Given the description of an element on the screen output the (x, y) to click on. 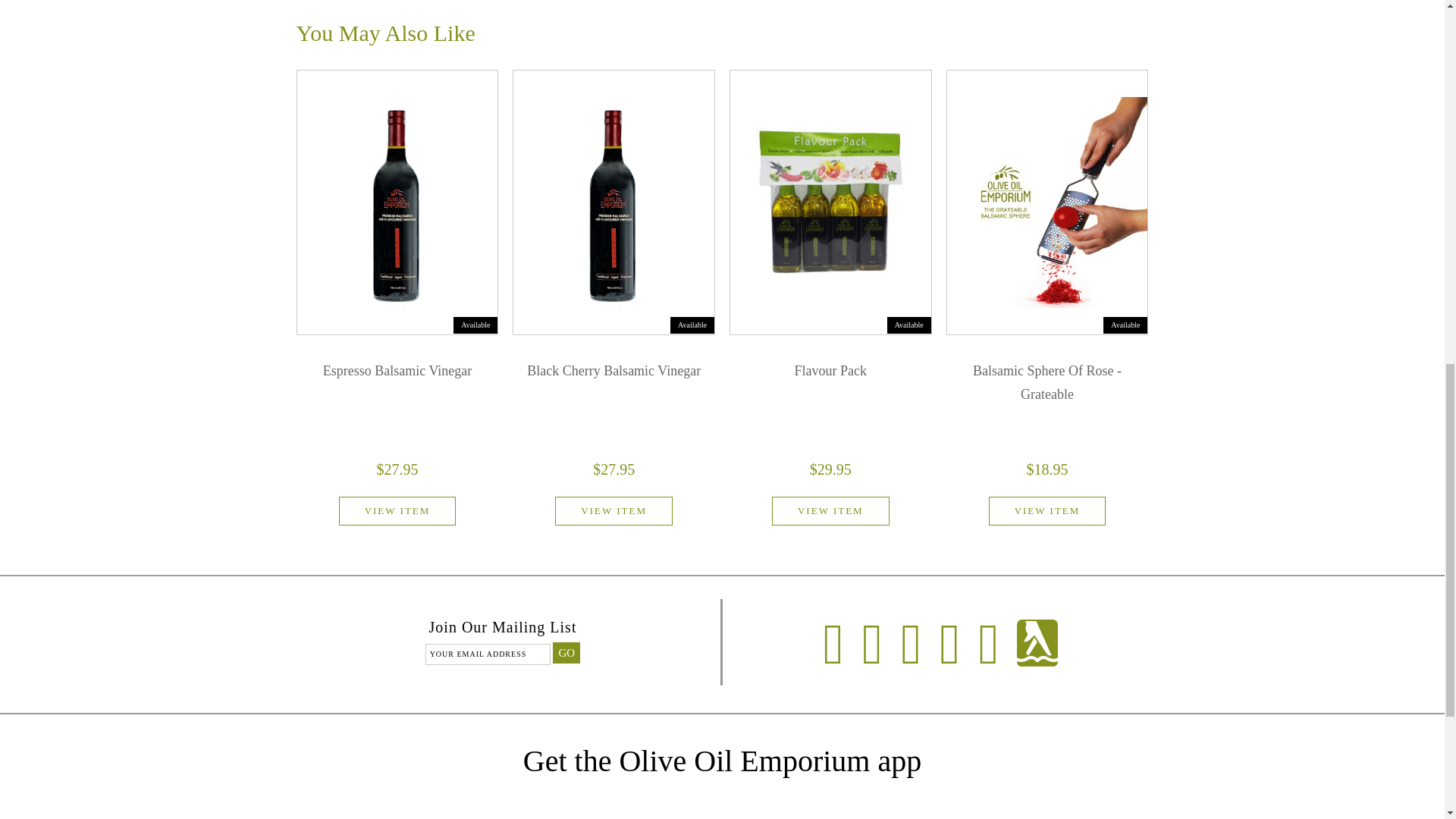
Your email address (487, 653)
GO (566, 652)
